Given the description of an element on the screen output the (x, y) to click on. 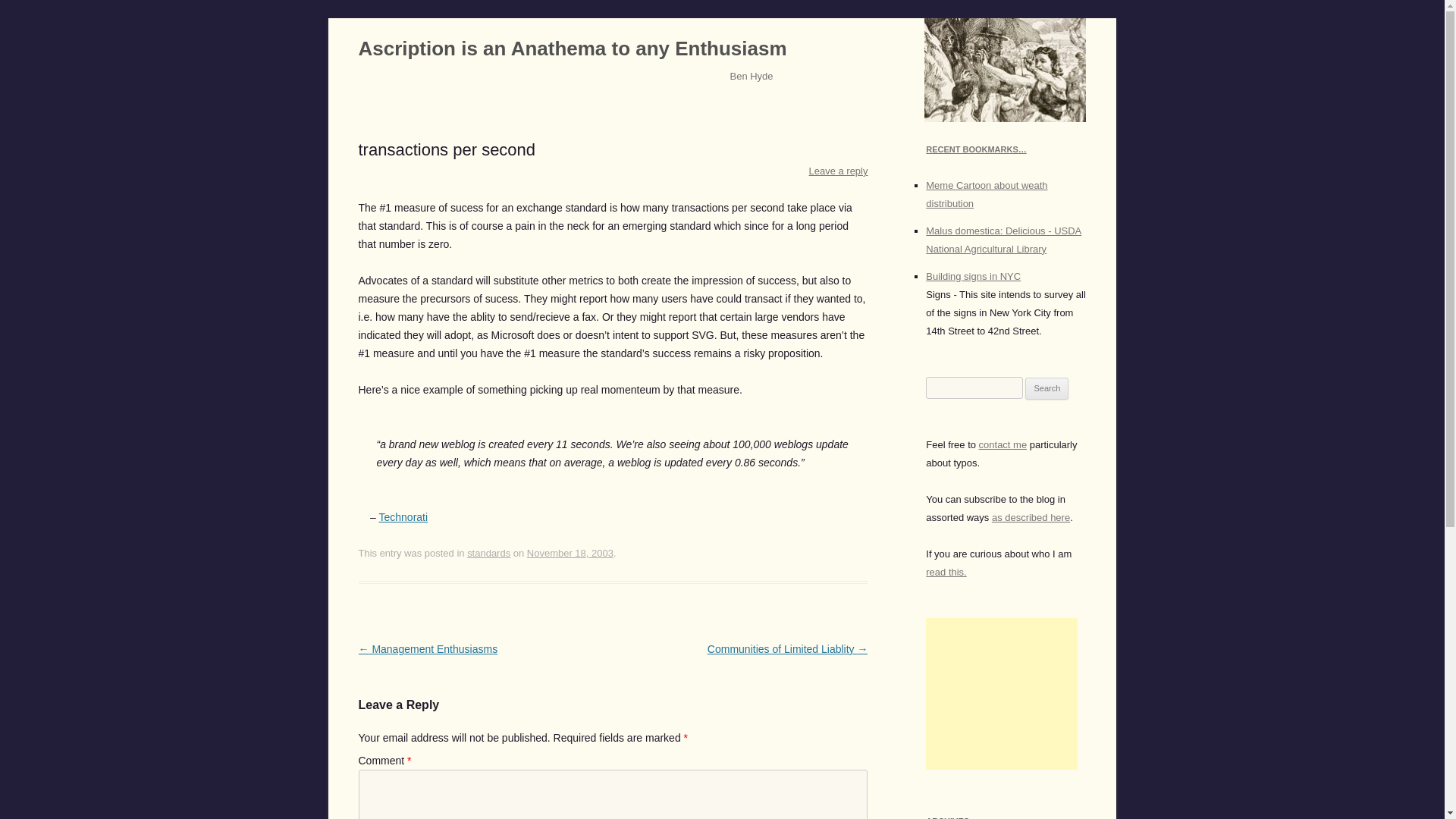
Advertisement (1001, 693)
standards (489, 552)
Search (1046, 388)
12:28 pm (569, 552)
Ascription is an Anathema to any Enthusiasm (572, 49)
Reveal this e-mail address (1002, 444)
Technorati (403, 517)
